Given the description of an element on the screen output the (x, y) to click on. 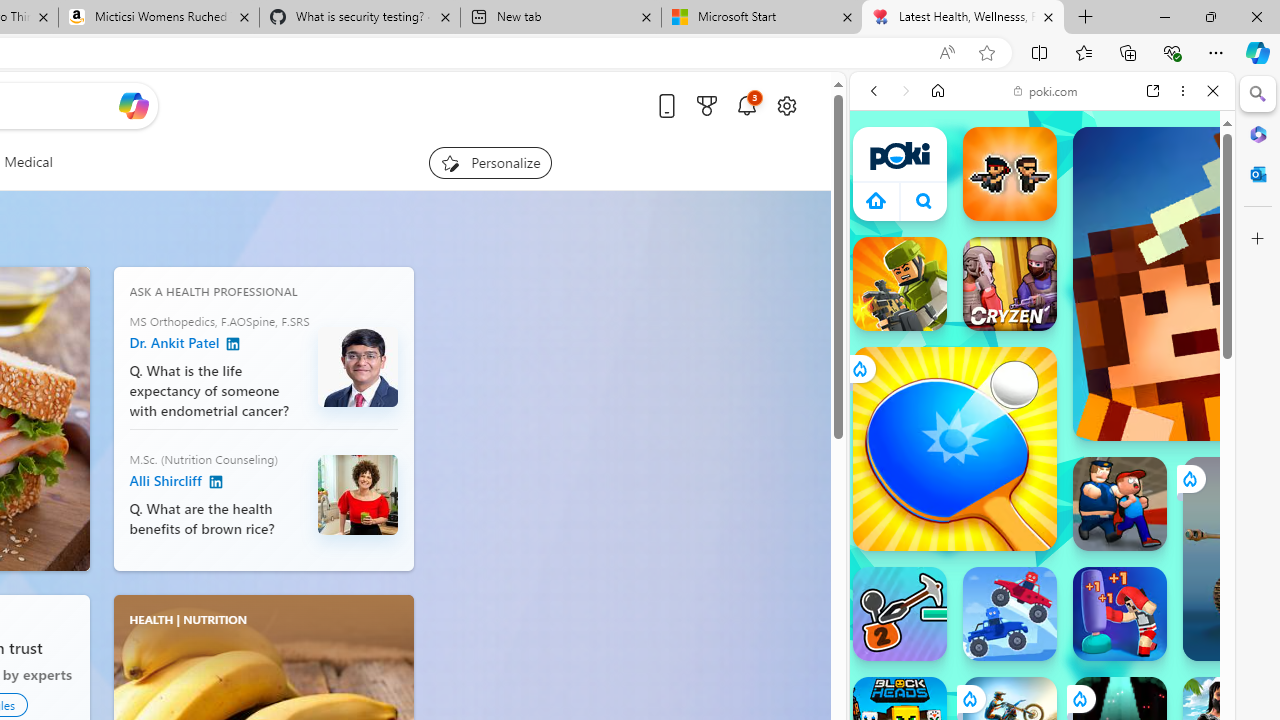
Alli Shircliff (357, 494)
Personalize your feed" (489, 162)
Punch Legend Simulator Punch Legend Simulator (1119, 613)
Sports Games (1042, 665)
Class: B_5ykBA46kDOxiz_R9wm (923, 200)
Zombie Rush (1009, 173)
Car Games (1042, 469)
